Given the description of an element on the screen output the (x, y) to click on. 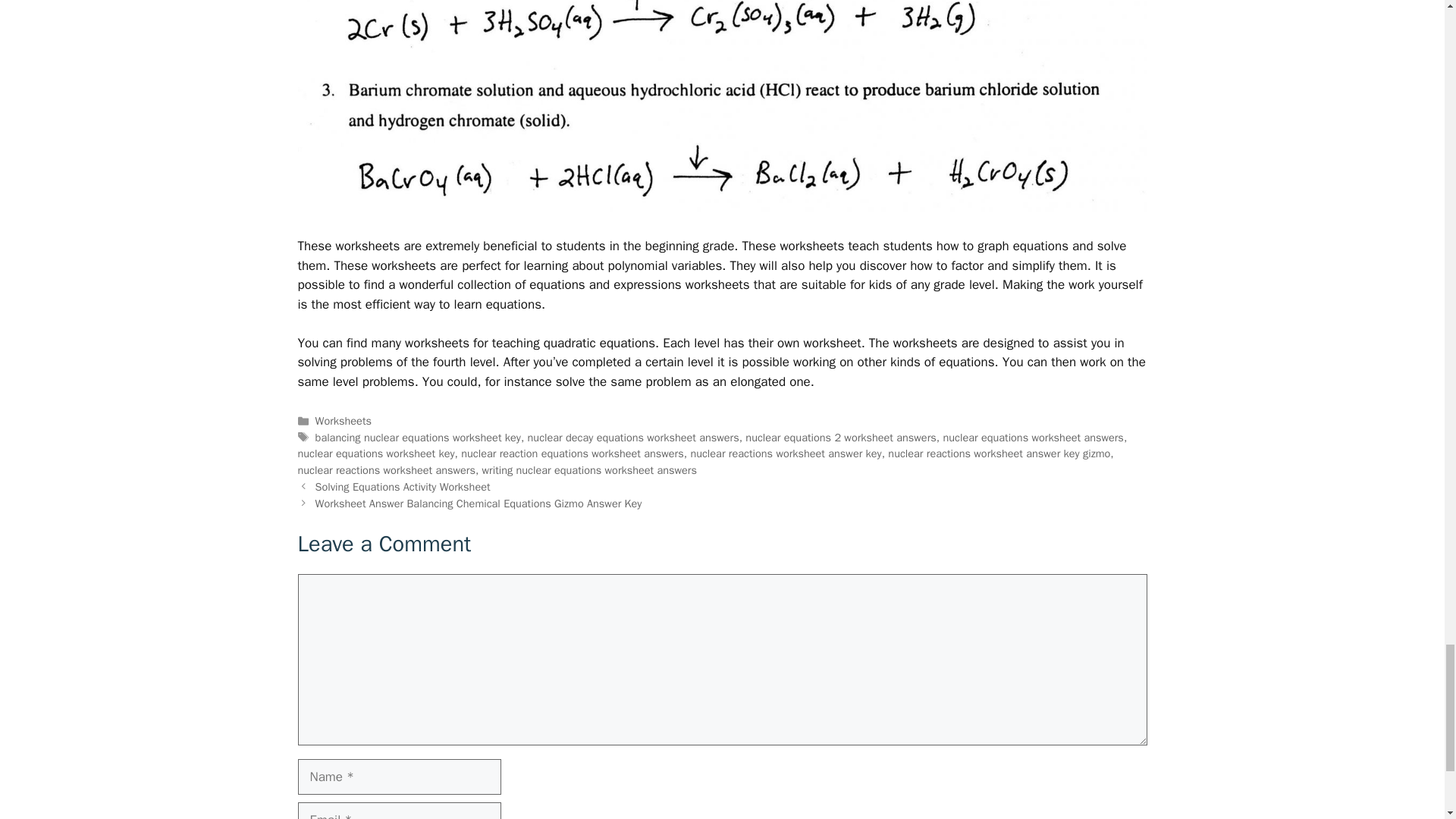
nuclear equations 2 worksheet answers (840, 437)
nuclear decay equations worksheet answers (633, 437)
Solving Equations Activity Worksheet (402, 486)
nuclear reactions worksheet answer key gizmo (998, 453)
balancing nuclear equations worksheet key (418, 437)
nuclear equations worksheet answers (1032, 437)
nuclear reaction equations worksheet answers (572, 453)
Worksheets (343, 420)
nuclear reactions worksheet answers (385, 469)
writing nuclear equations worksheet answers (589, 469)
nuclear equations worksheet key (375, 453)
nuclear reactions worksheet answer key (785, 453)
